Given the description of an element on the screen output the (x, y) to click on. 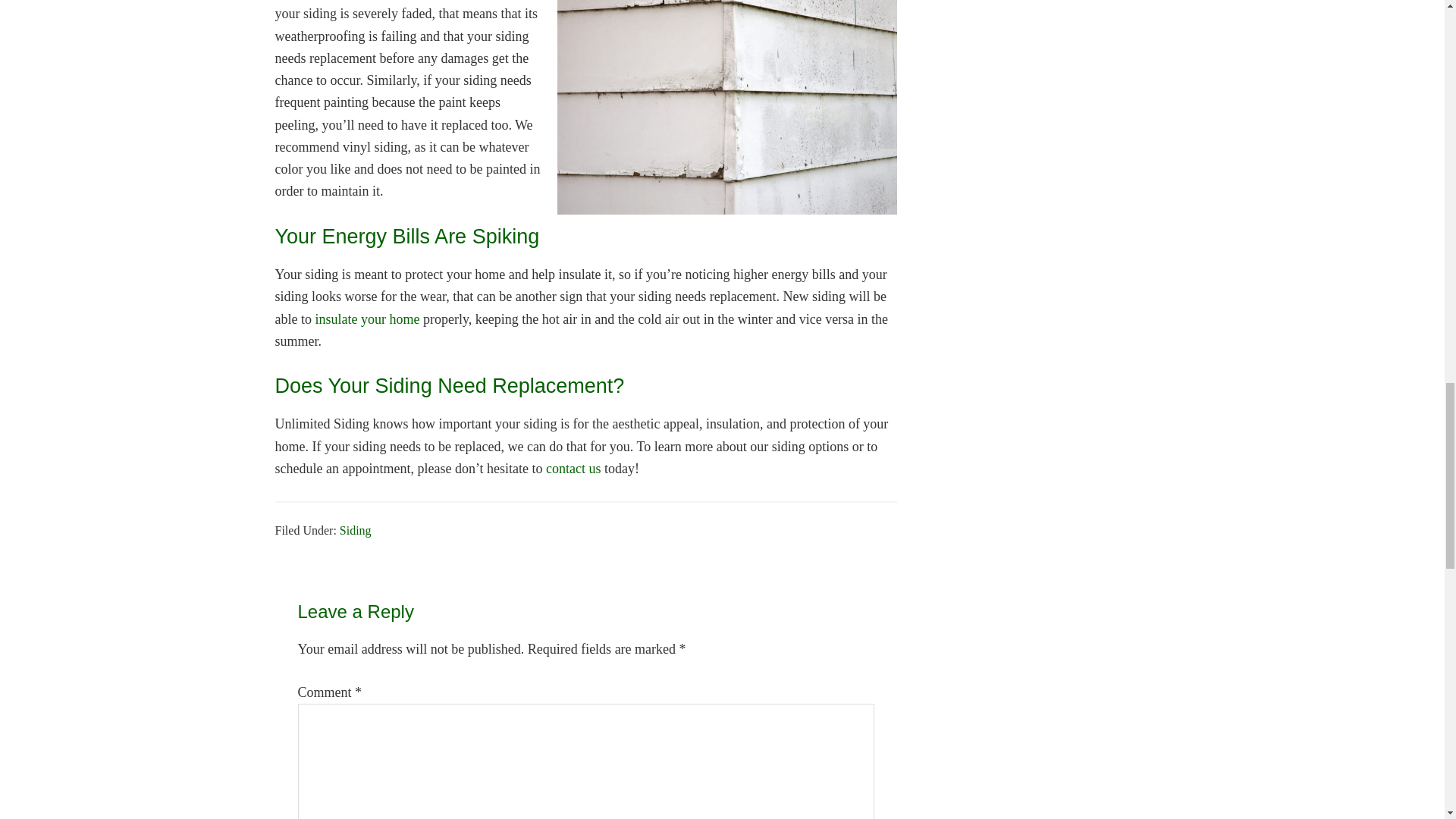
How To Tell If Your Siding Needs Replacement (726, 107)
contact us (572, 468)
Siding (355, 530)
insulate your home (366, 319)
